Given the description of an element on the screen output the (x, y) to click on. 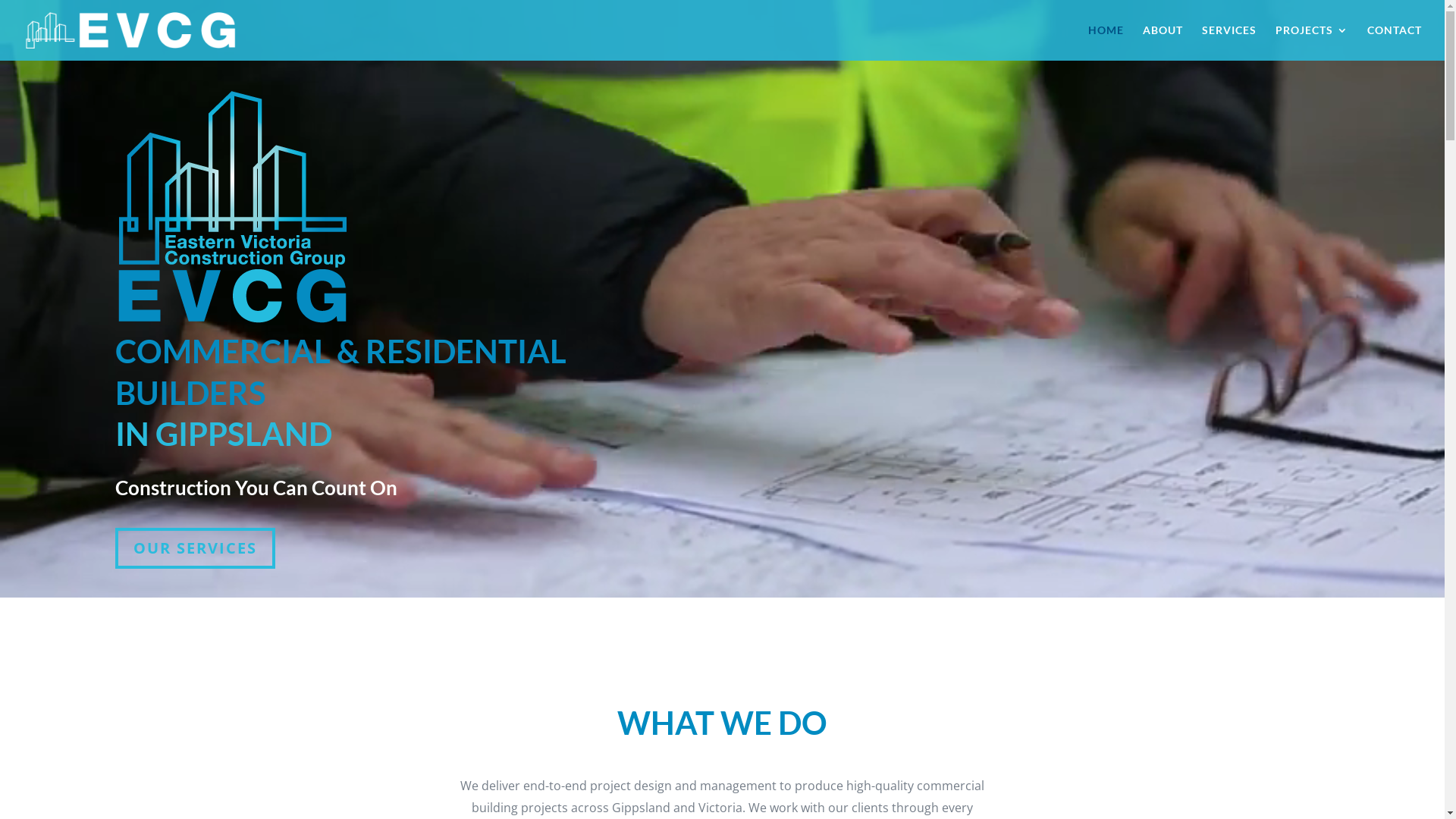
CONTACT Element type: text (1394, 42)
HOME Element type: text (1105, 42)
OUR SERVICES Element type: text (195, 547)
ABOUT Element type: text (1162, 42)
PROJECTS Element type: text (1311, 42)
SERVICES Element type: text (1228, 42)
